Given the description of an element on the screen output the (x, y) to click on. 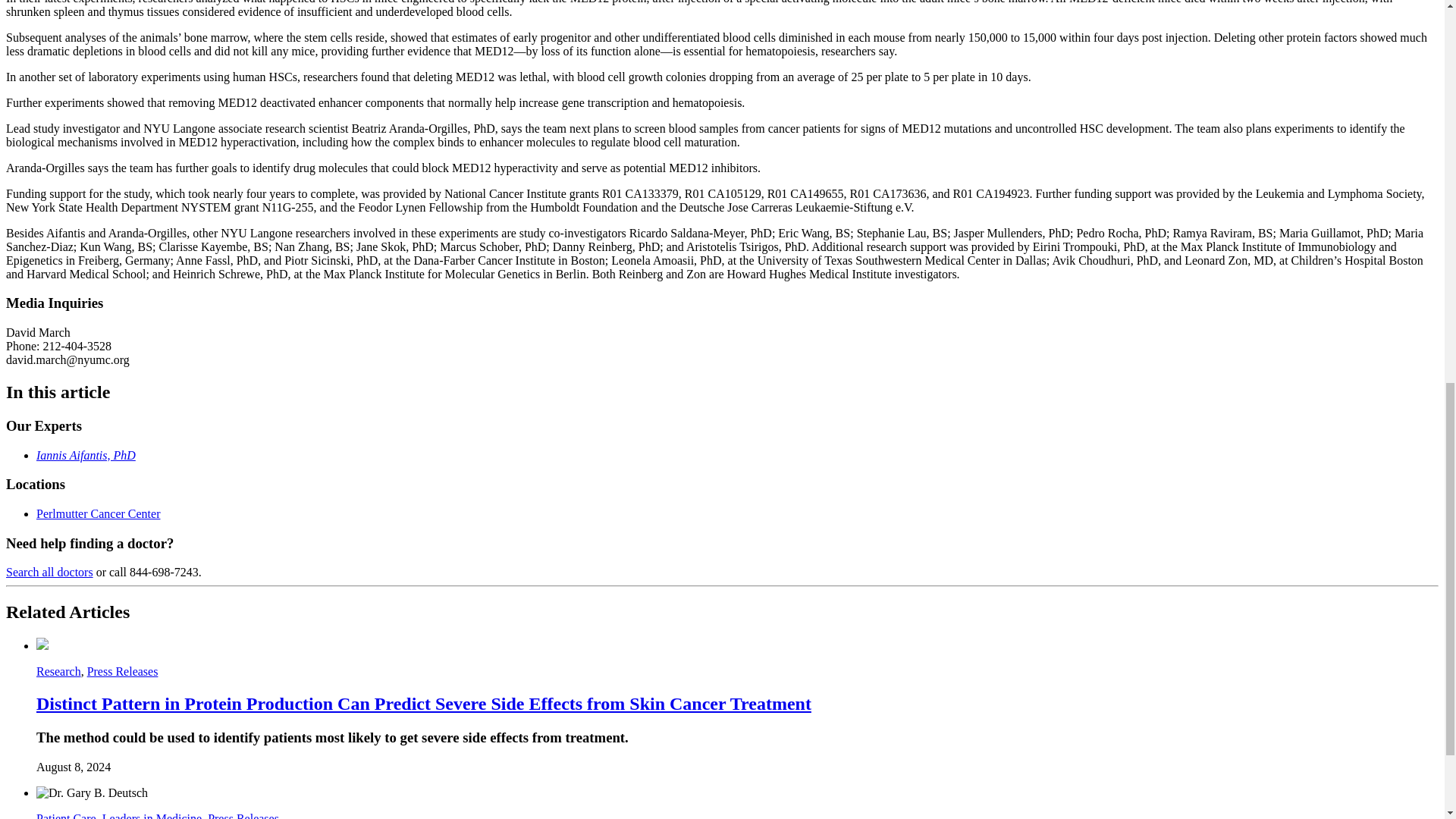
Leaders in Medicine (151, 815)
Search all doctors (49, 571)
Press Releases (243, 815)
Iannis Aifantis, PhD (85, 454)
Press Releases (122, 671)
Research (58, 671)
Patient Care (66, 815)
Perlmutter Cancer Center (98, 513)
